Given the description of an element on the screen output the (x, y) to click on. 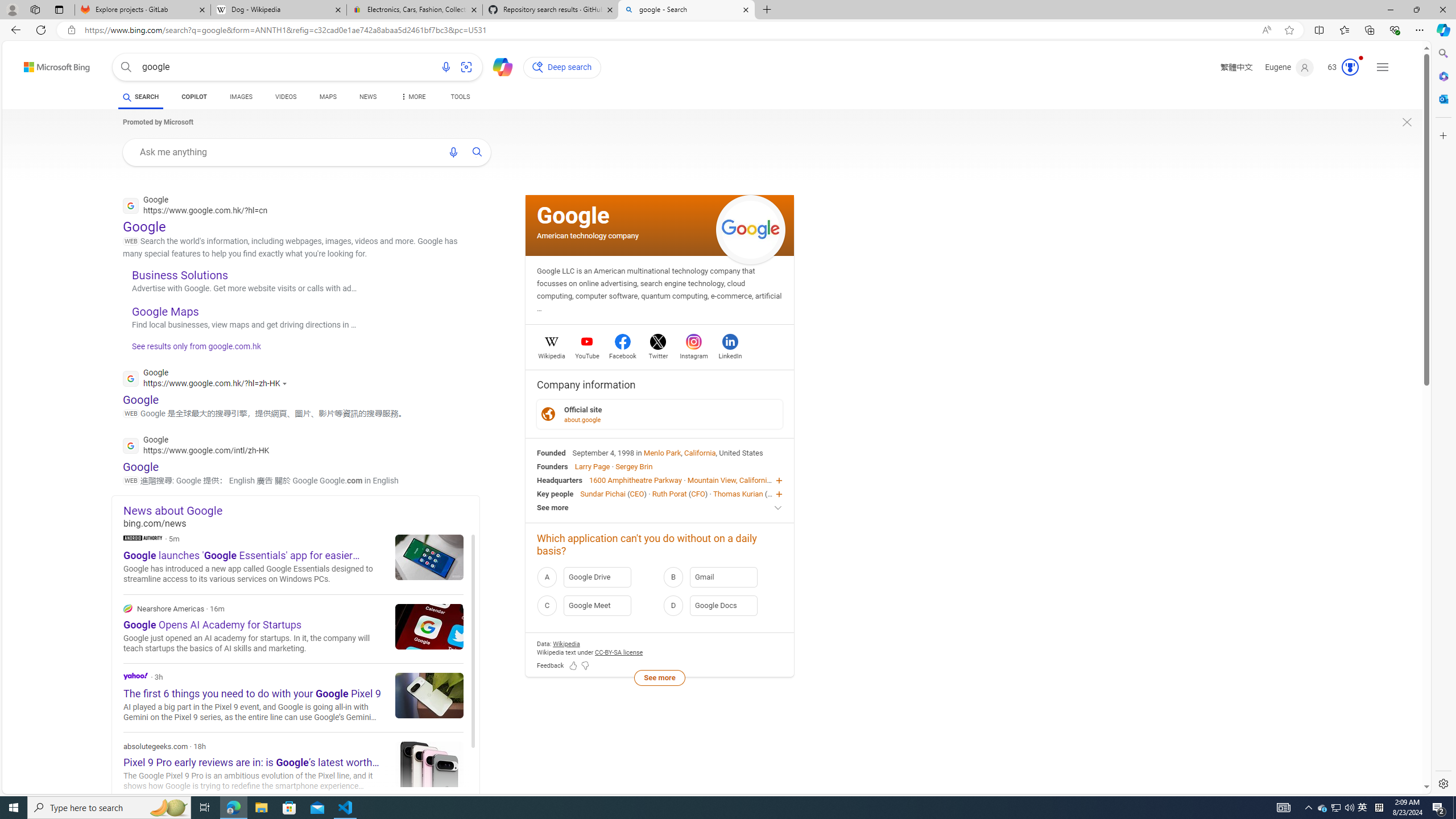
Founders (552, 465)
Mountain View, California (729, 479)
See more images of Google (751, 229)
AutomationID: mfa_root (1383, 752)
See results only from google.com.hk (191, 348)
The first 6 things you need to do with your Google Pixel 9 (428, 695)
NEWS (367, 98)
Founded (551, 452)
NEWS (367, 96)
